Given the description of an element on the screen output the (x, y) to click on. 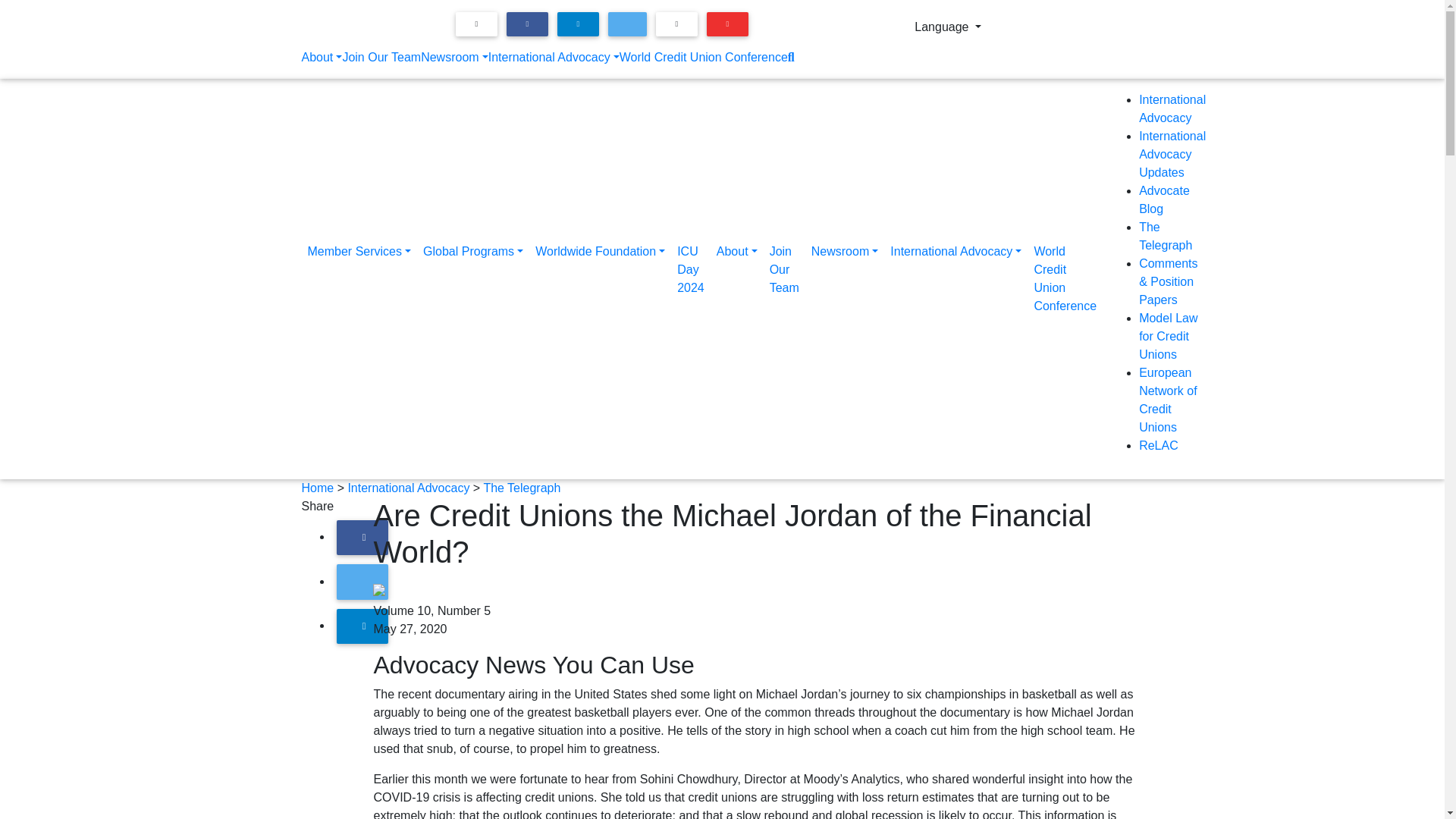
Member Services (359, 278)
Join Our Team (381, 57)
World Credit Union Conference (703, 57)
International Advocacy (553, 57)
Newsroom (453, 57)
About (321, 57)
Language (947, 27)
